Given the description of an element on the screen output the (x, y) to click on. 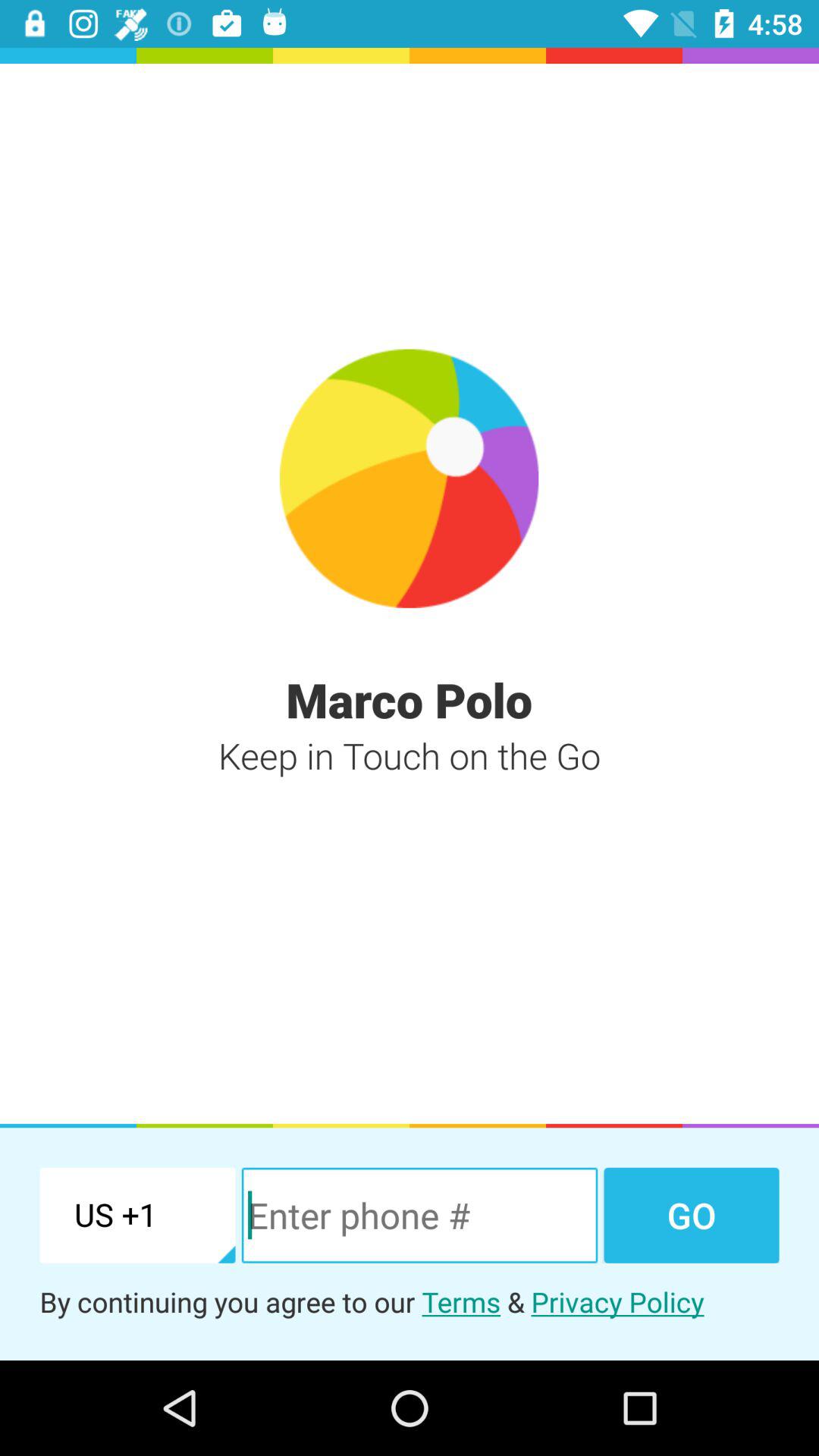
launch item to the right of the us +1 icon (419, 1215)
